Given the description of an element on the screen output the (x, y) to click on. 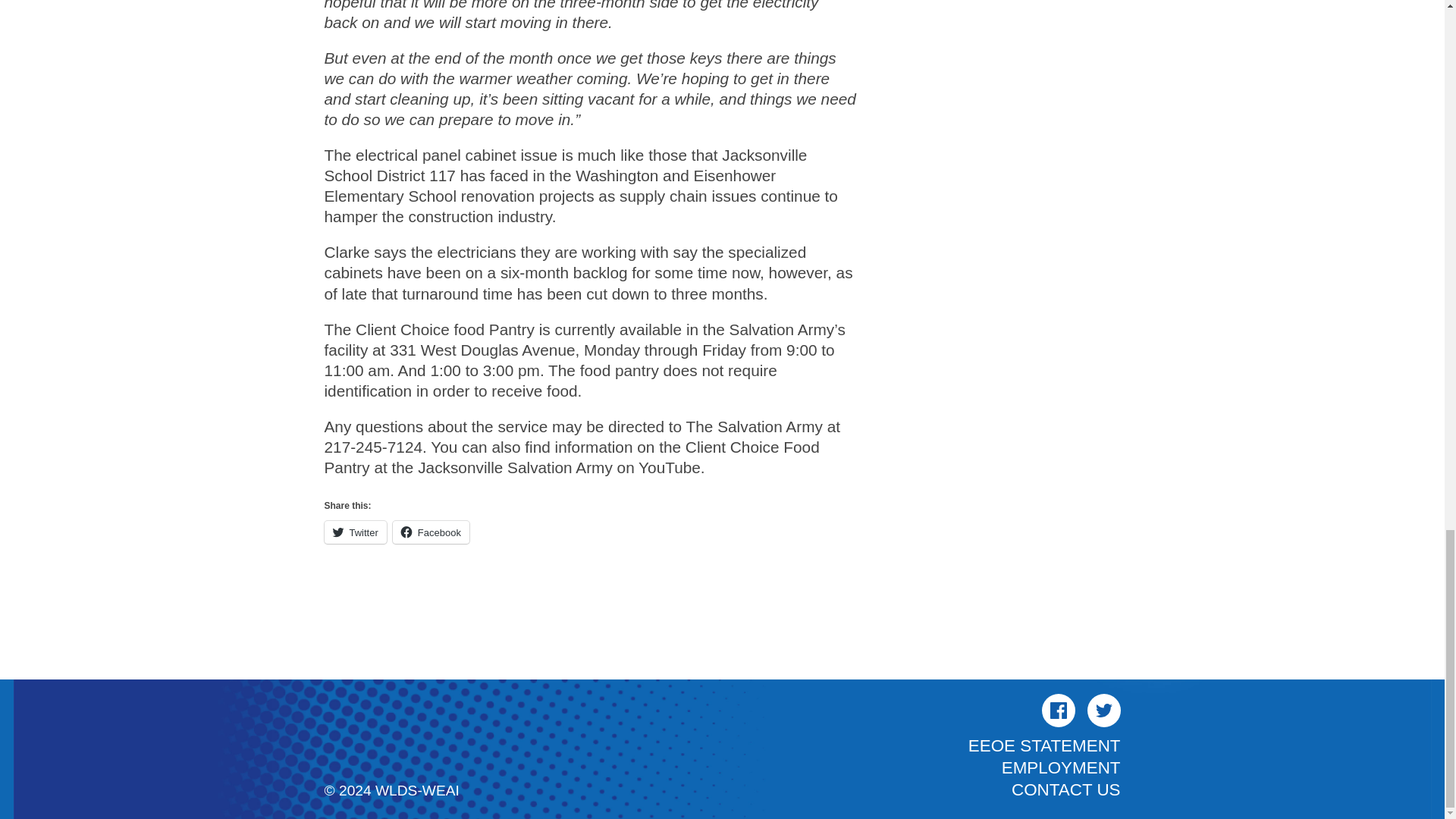
Click to share on Facebook (430, 531)
Facebook (1058, 710)
Facebook (430, 531)
EEOE STATEMENT (1044, 745)
EMPLOYMENT (1061, 767)
CONTACT US (1065, 789)
Click to share on Twitter (355, 531)
Twitter (355, 531)
Twitter (1104, 710)
